Given the description of an element on the screen output the (x, y) to click on. 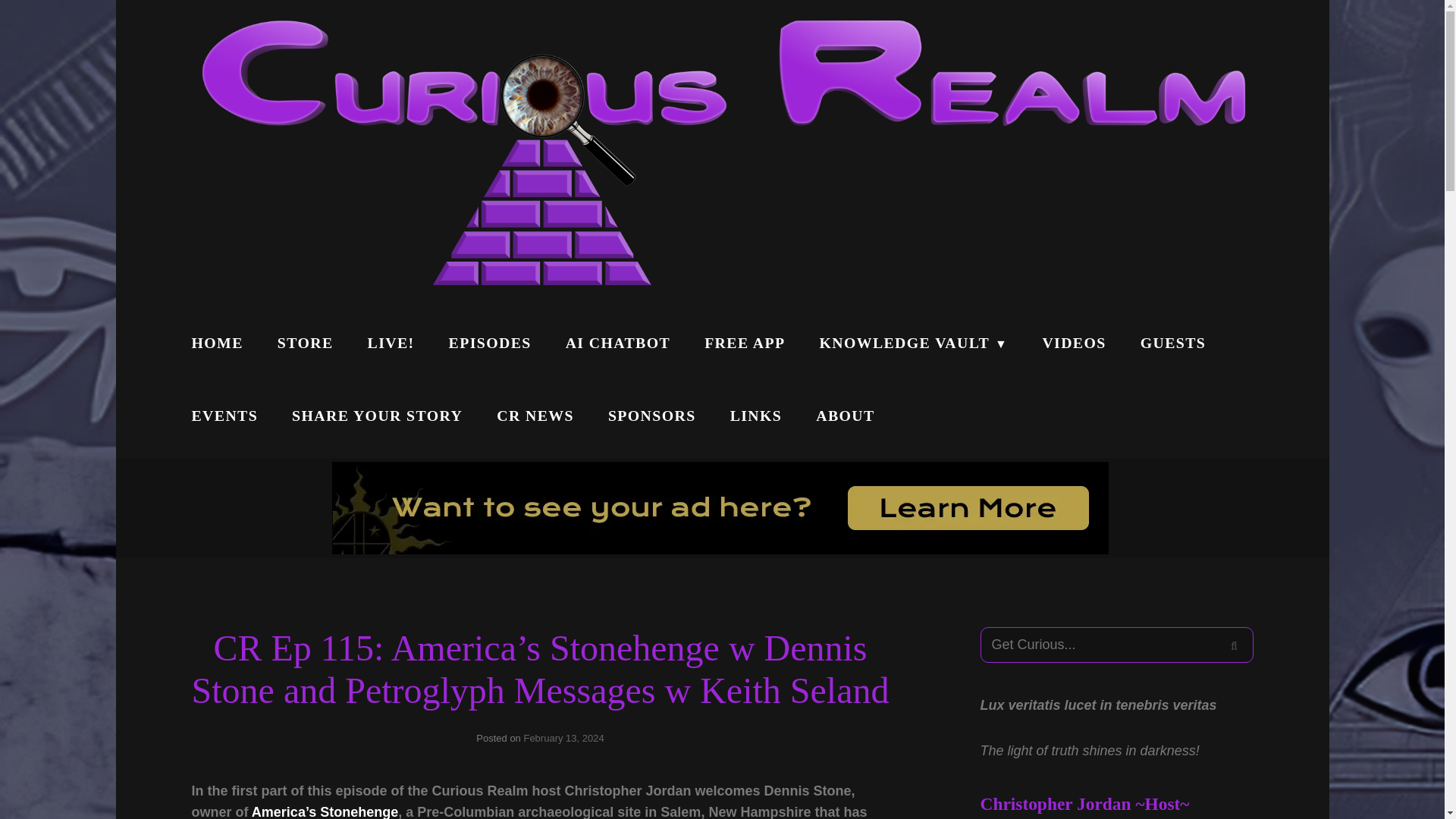
SPONSORS (651, 416)
KNOWLEDGE VAULT (913, 343)
EPISODES (490, 343)
SHARE YOUR STORY (376, 416)
EVENTS (224, 416)
STORE (305, 343)
February 13, 2024 (563, 737)
HOME (216, 343)
LIVE! (390, 343)
FREE APP (743, 343)
LINKS (755, 416)
CR NEWS (535, 416)
CURIOUS REALM (1312, 183)
GUESTS (1173, 343)
AI CHATBOT (617, 343)
